Given the description of an element on the screen output the (x, y) to click on. 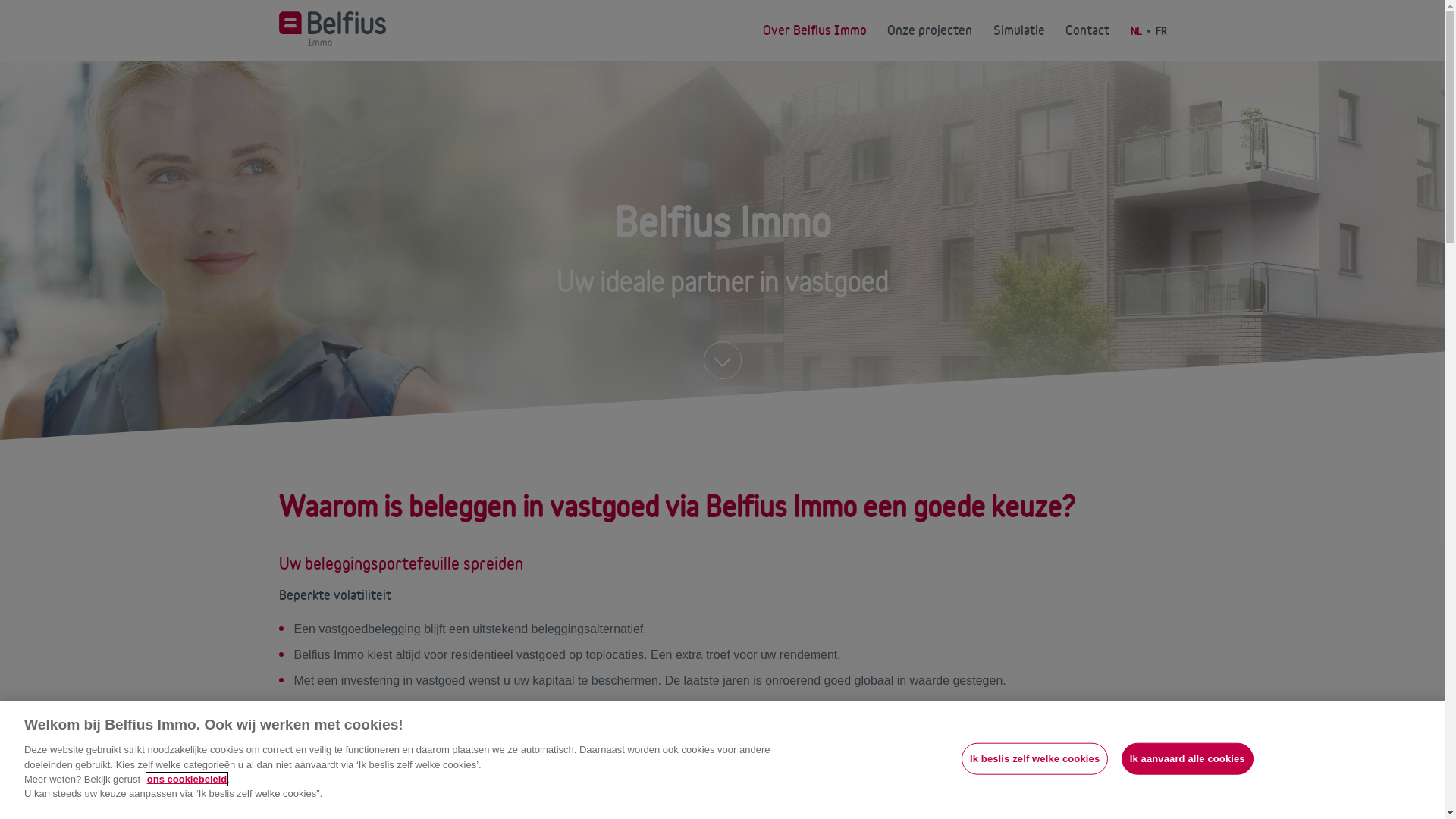
FR Element type: text (1160, 30)
Onze projecten Element type: text (929, 30)
Contact Element type: text (1087, 30)
Simulatie Element type: text (1018, 30)
NL Element type: text (1135, 30)
ons cookiebeleid Element type: text (186, 778)
Over Belfius Immo Element type: text (814, 30)
Go down Element type: text (722, 360)
Ik beslis zelf welke cookies Element type: text (1034, 759)
Ik aanvaard alle cookies Element type: text (1187, 759)
